Given the description of an element on the screen output the (x, y) to click on. 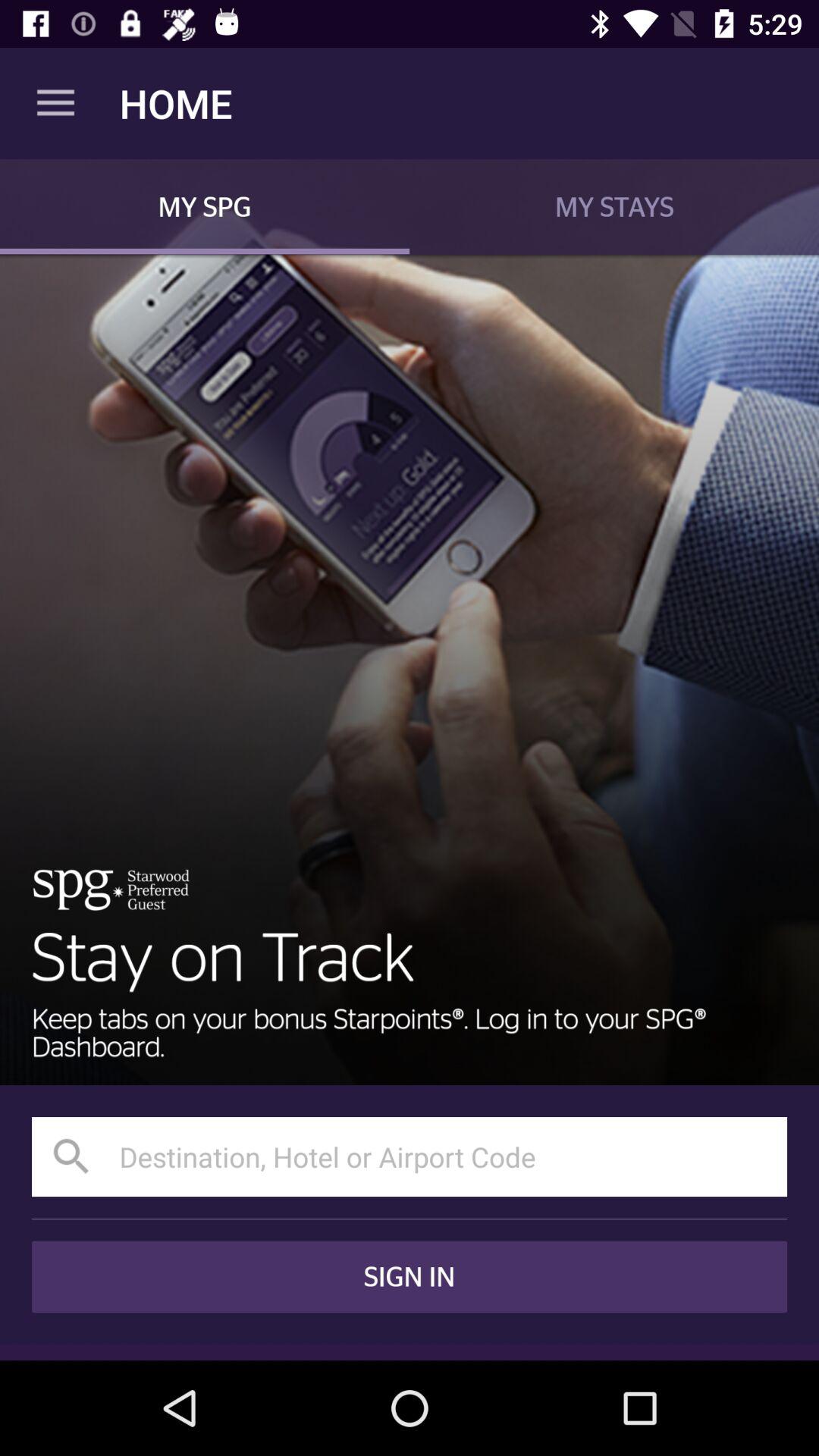
choose item below the keep tabs on (409, 1156)
